Given the description of an element on the screen output the (x, y) to click on. 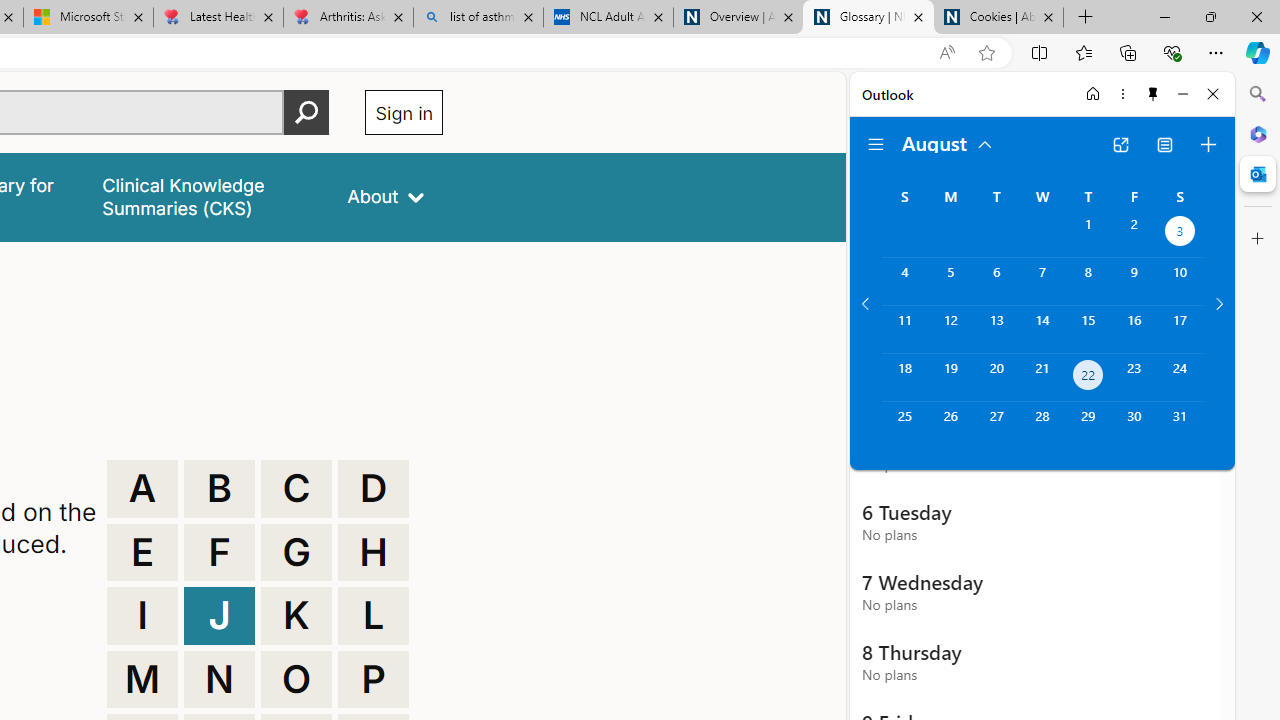
I (142, 615)
Thursday, August 29, 2024.  (1088, 425)
Glossary | NICE (868, 17)
D (373, 488)
Tuesday, August 13, 2024.  (996, 329)
Sunday, August 4, 2024.  (904, 281)
O (296, 679)
Monday, August 5, 2024.  (950, 281)
B (219, 488)
N (219, 679)
